Given the description of an element on the screen output the (x, y) to click on. 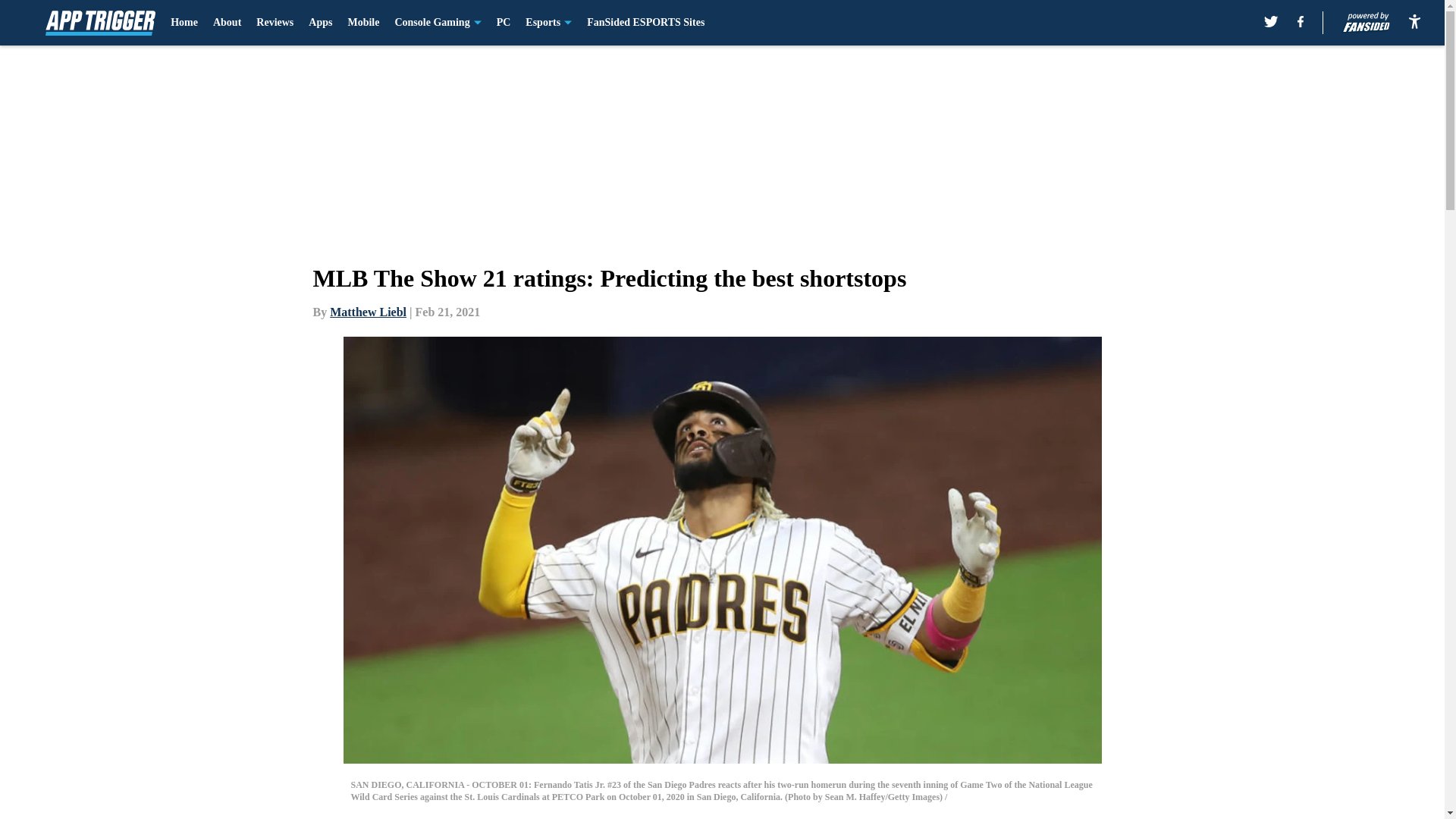
FanSided ESPORTS Sites (645, 22)
Reviews (275, 22)
Home (184, 22)
Matthew Liebl (368, 311)
Apps (319, 22)
Mobile (362, 22)
PC (503, 22)
About (226, 22)
